Given the description of an element on the screen output the (x, y) to click on. 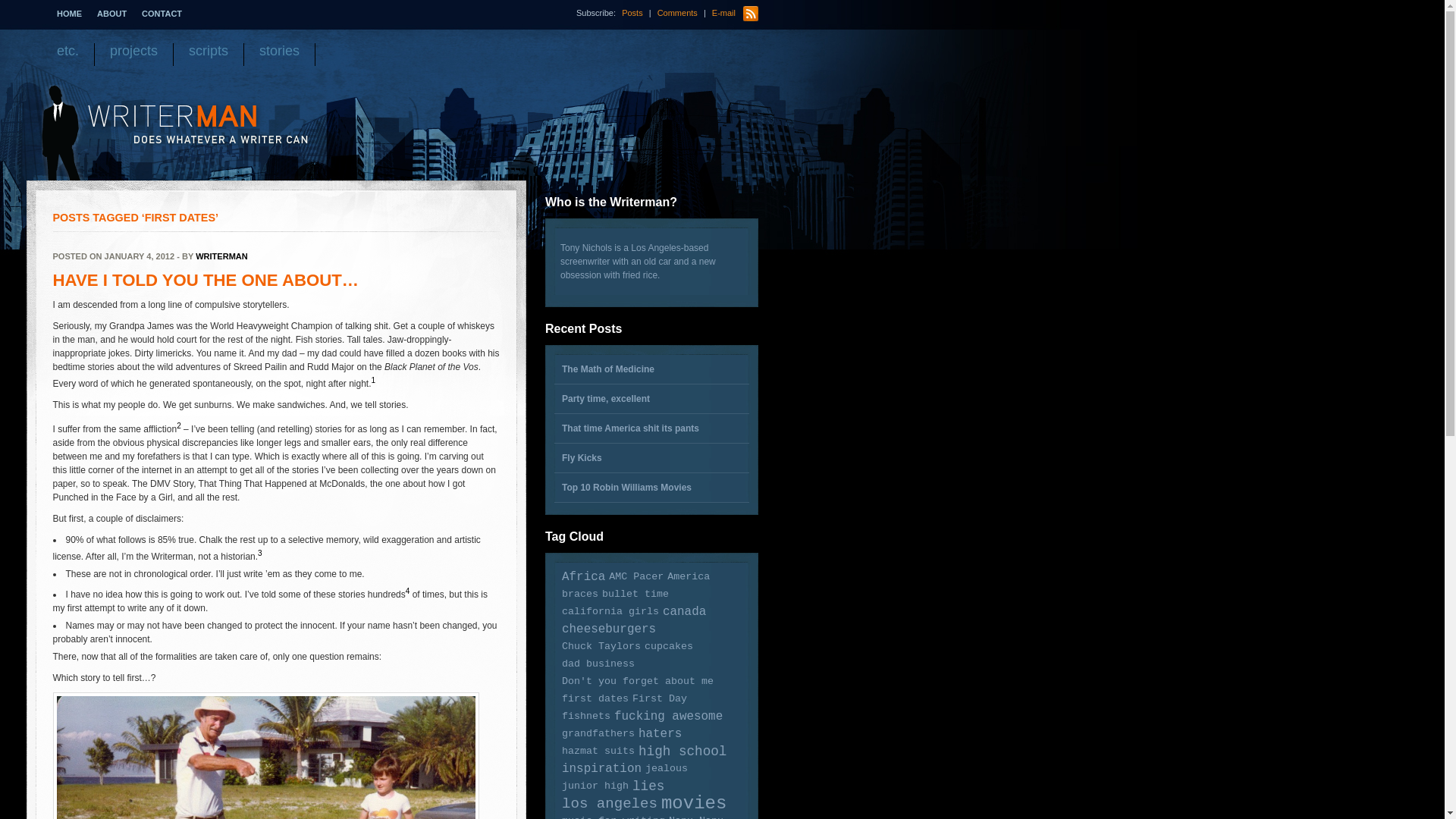
URL for Posts RSS 2.0 Feed (631, 12)
HOME (68, 13)
Party time, excellent (651, 398)
braces (580, 594)
Fly Kicks (651, 458)
Africa (583, 576)
URL for comments RSS 2.0 Feed (677, 12)
That time America shit its pants (651, 427)
Comments (677, 12)
canada (684, 612)
cheeseburgers (609, 629)
cupcakes (669, 646)
scripts (208, 54)
Subscribe via E-mail (723, 12)
View Posts in "etc.":  (67, 54)
